Given the description of an element on the screen output the (x, y) to click on. 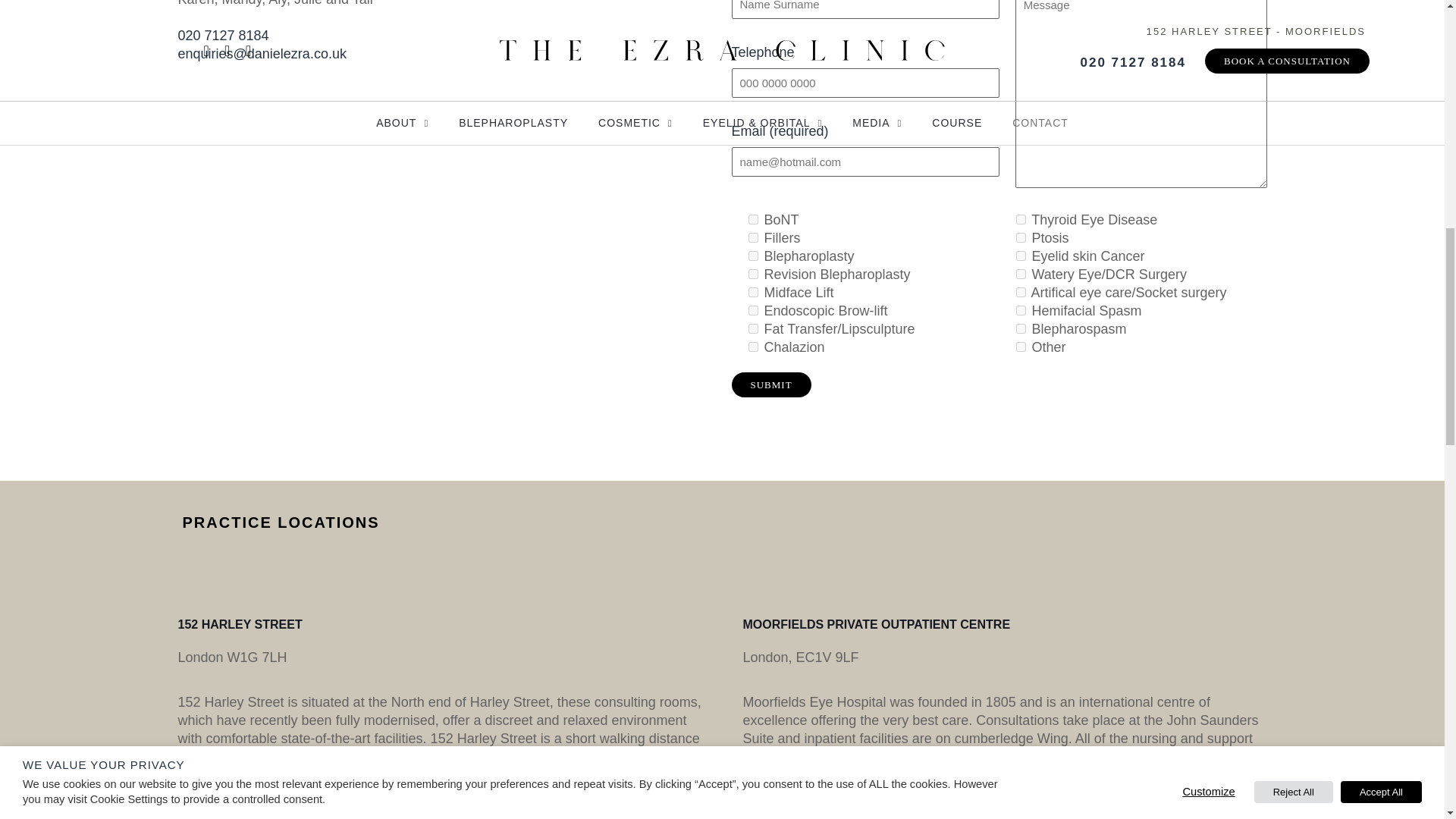
Blepharospasm (1021, 328)
BoNT (752, 219)
Fillers (752, 237)
Eyelid skin Cancer (1021, 255)
Ptosis (1021, 237)
Blepharoplasty (752, 255)
Endoscopic Brow-lift (752, 310)
Chalazion (752, 347)
Midface Lift (752, 292)
Submit (770, 384)
Thyroid Eye Disease (1021, 219)
Other (1021, 347)
Hemifacial Spasm (1021, 310)
Revision Blepharoplasty (752, 274)
